Given the description of an element on the screen output the (x, y) to click on. 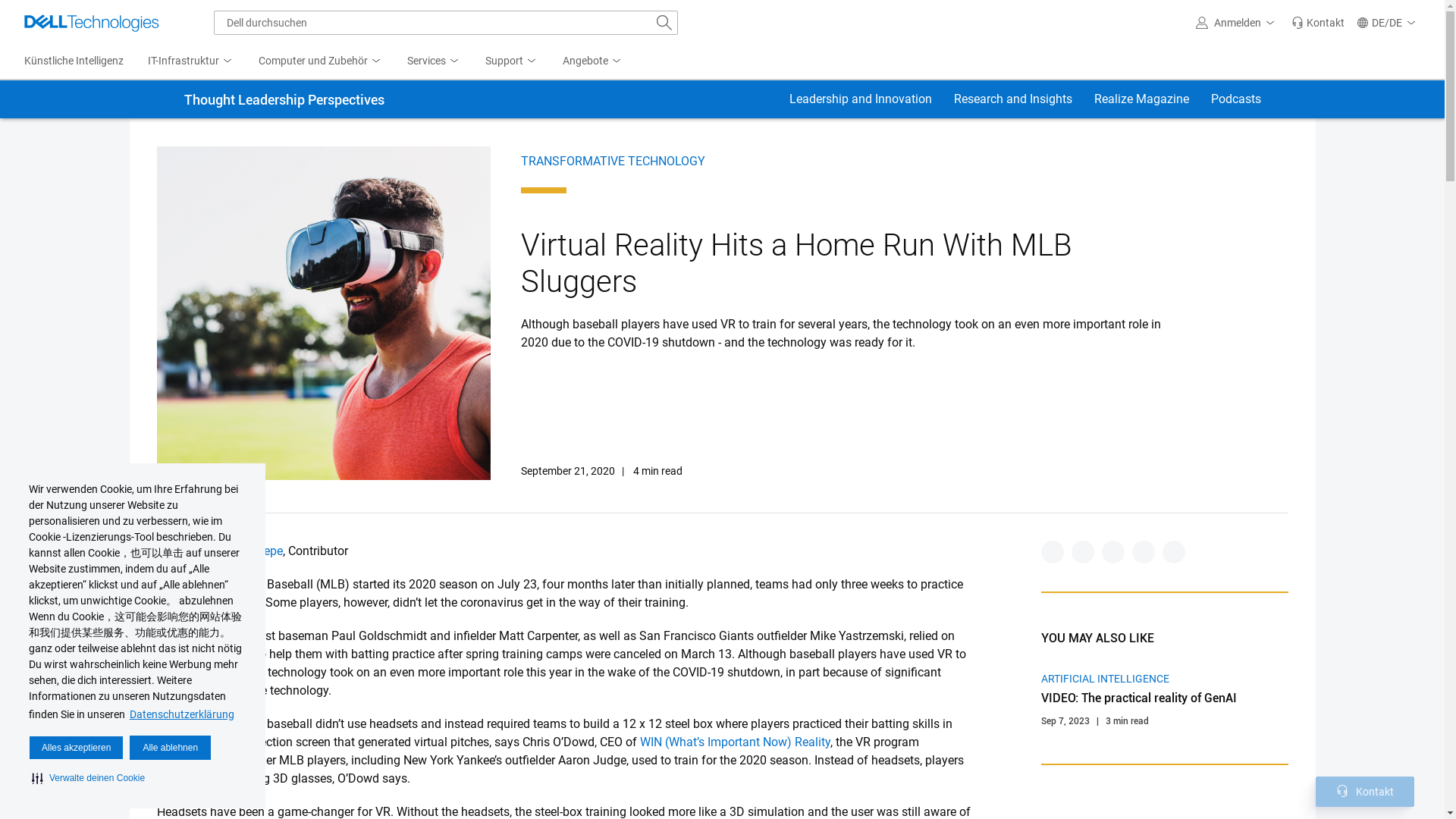
Alles akzeptieren (76, 747)
Anmelden (1237, 22)
Verwalte deinen Cookie (88, 777)
Alle ablehnen (170, 747)
IT-Infrastruktur (190, 61)
Kontakt (1318, 22)
Contact Us (1342, 790)
